Given the description of an element on the screen output the (x, y) to click on. 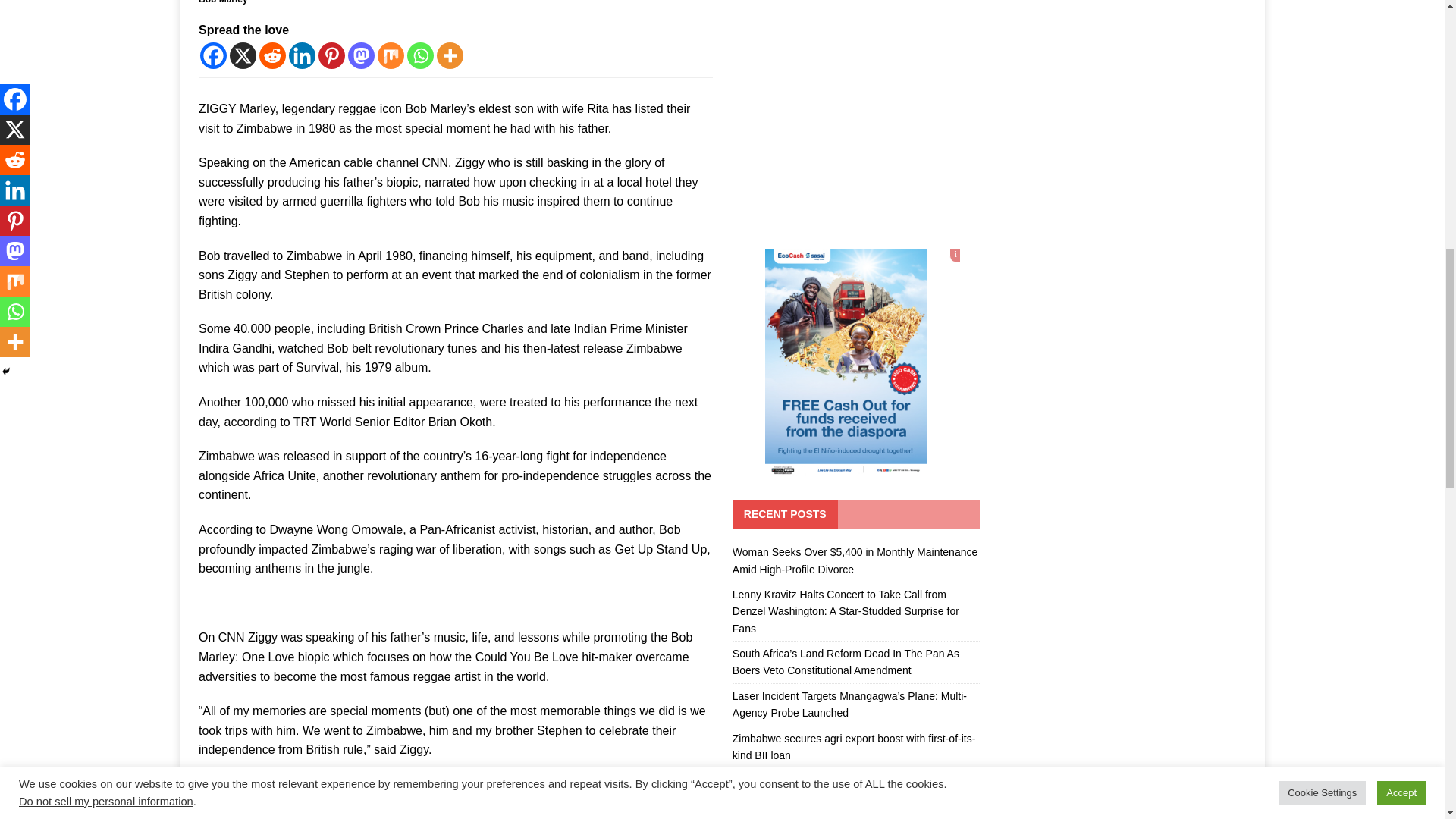
Whatsapp (420, 55)
Reddit (272, 55)
X (243, 55)
Mix (390, 55)
Mastodon (360, 55)
Pinterest (331, 55)
Facebook (213, 55)
Linkedin (301, 55)
